Given the description of an element on the screen output the (x, y) to click on. 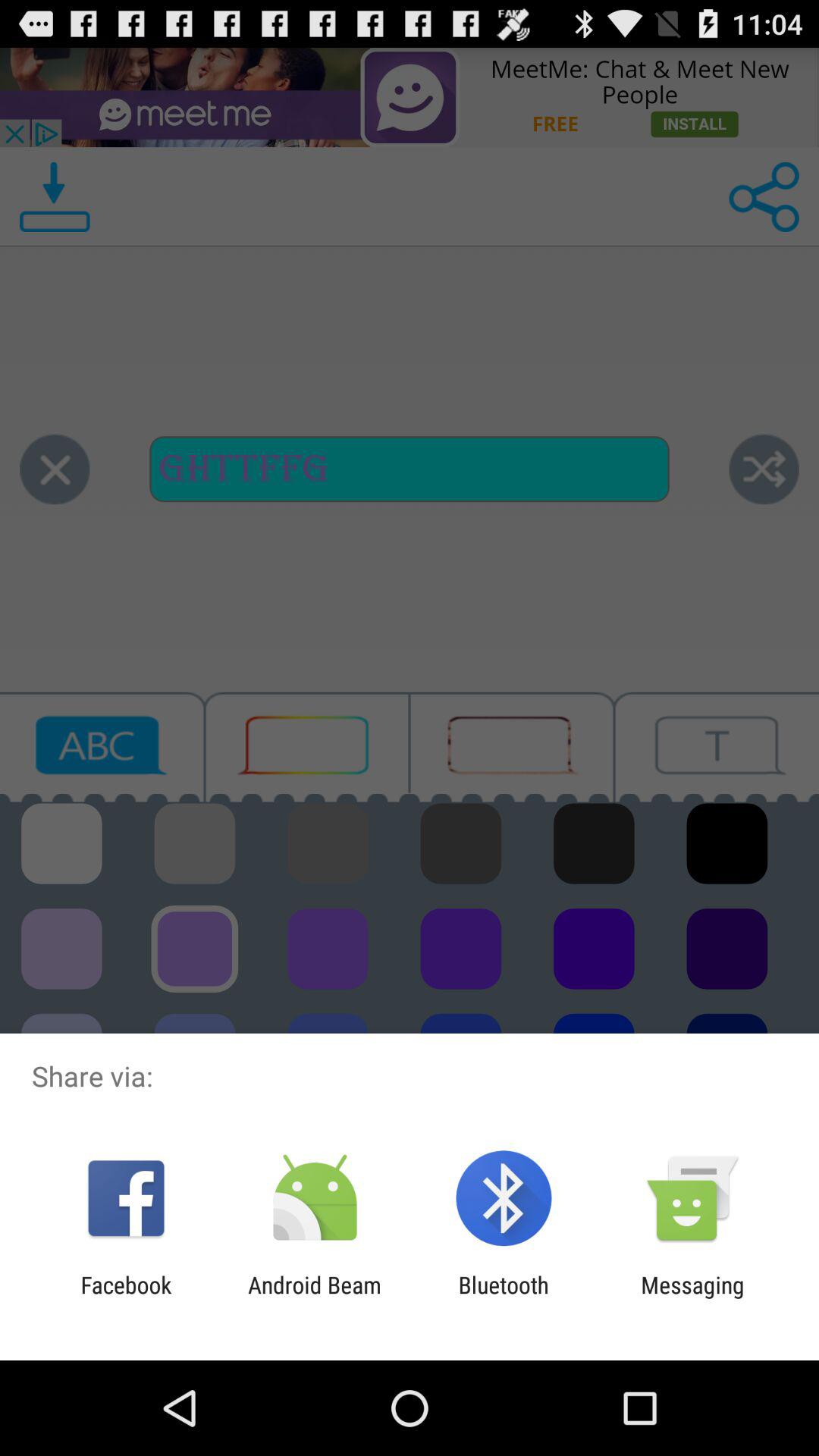
tap the android beam icon (314, 1298)
